Given the description of an element on the screen output the (x, y) to click on. 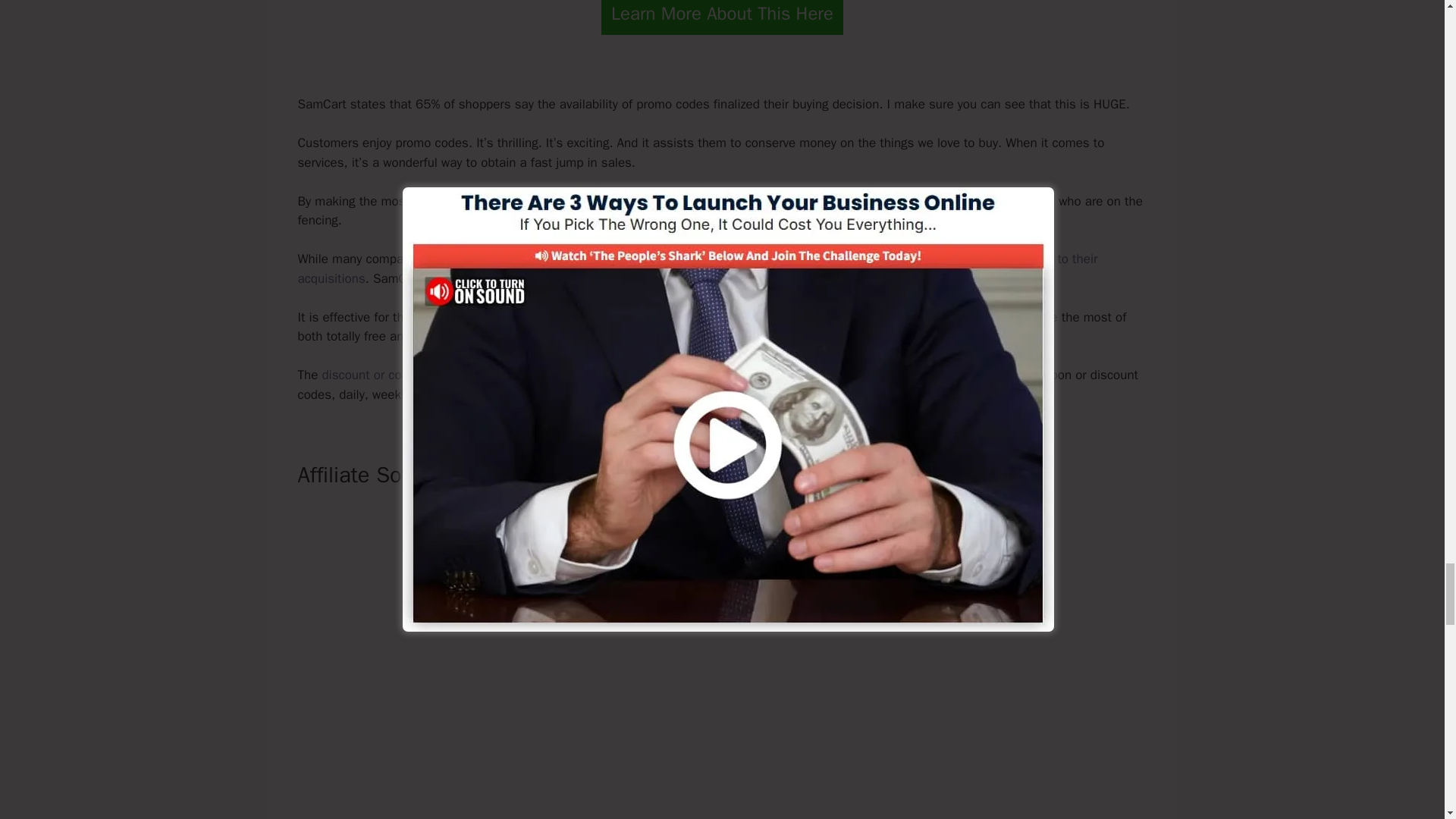
instantly applied to their acquisitions (697, 268)
Learn More About This Here (722, 17)
discount or coupon code (390, 374)
